Given the description of an element on the screen output the (x, y) to click on. 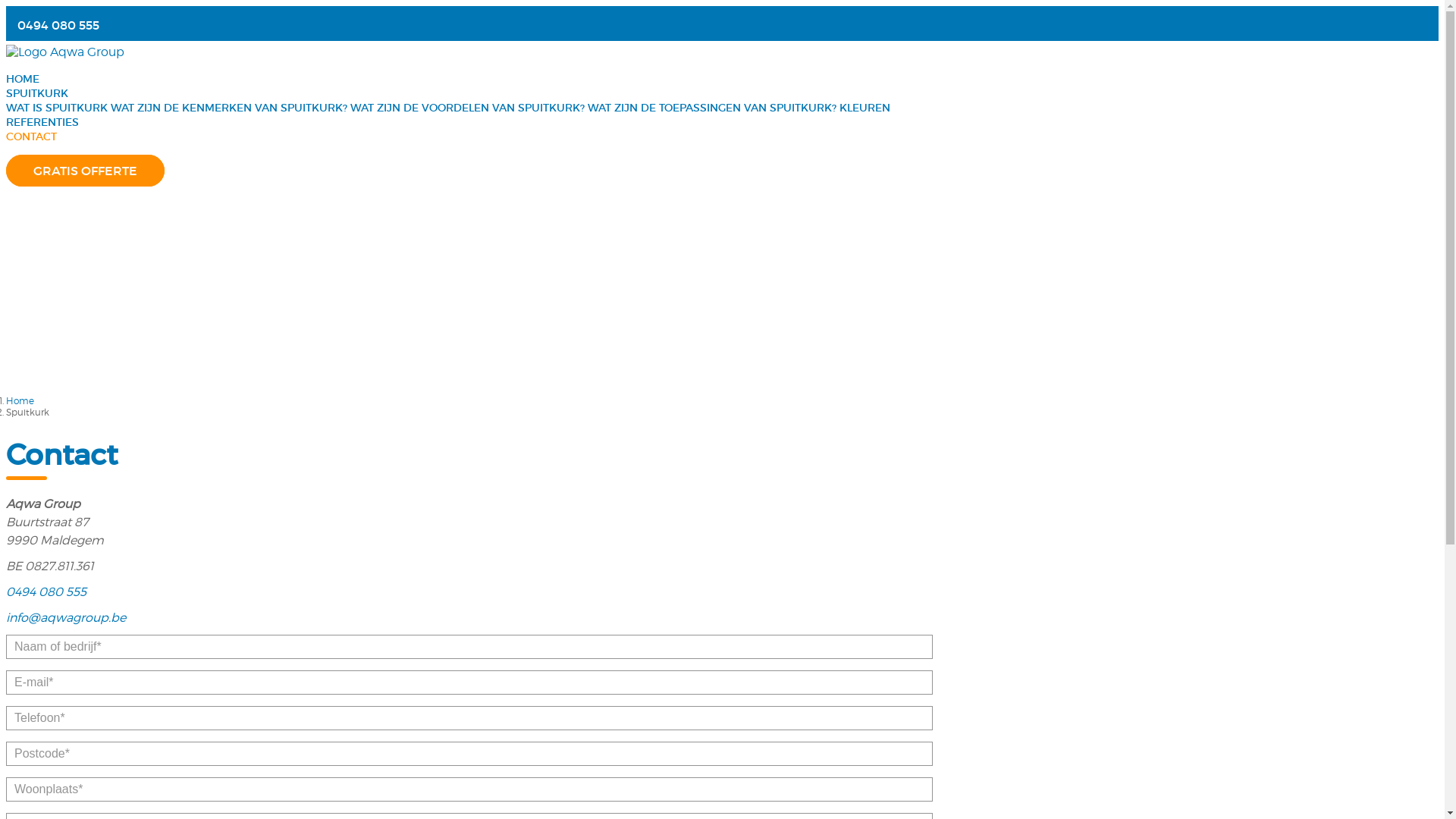
REFERENTIES Element type: text (42, 121)
GRATIS OFFERTE Element type: text (85, 170)
Tik uw telefoonnummer in aub. Element type: hover (469, 718)
Back to top Element type: text (1415, 758)
WAT ZIJN DE VOORDELEN VAN SPUITKURK? Element type: text (467, 107)
Tik uw postcode in aub. Element type: hover (469, 753)
HOME Element type: text (22, 78)
0494 080 555 Element type: text (58, 24)
0494 080 555 Element type: text (46, 591)
WAT ZIJN DE TOEPASSINGEN VAN SPUITKURK? Element type: text (711, 107)
Logo Aqwa Group Element type: hover (65, 51)
Tik uw woonplaats in aub. Element type: hover (469, 789)
KLEUREN Element type: text (864, 107)
WAT IS SPUITKURK Element type: text (56, 107)
Tik een geldig emailadres in aub. Element type: hover (469, 682)
Home Element type: text (20, 400)
Tik uw naam of bedrijf in aub. Element type: hover (469, 646)
SPUITKURK Element type: text (40, 93)
info@aqwagroup.be Element type: text (65, 617)
WAT ZIJN DE KENMERKEN VAN SPUITKURK? Element type: text (228, 107)
CONTACT Element type: text (31, 136)
